Given the description of an element on the screen output the (x, y) to click on. 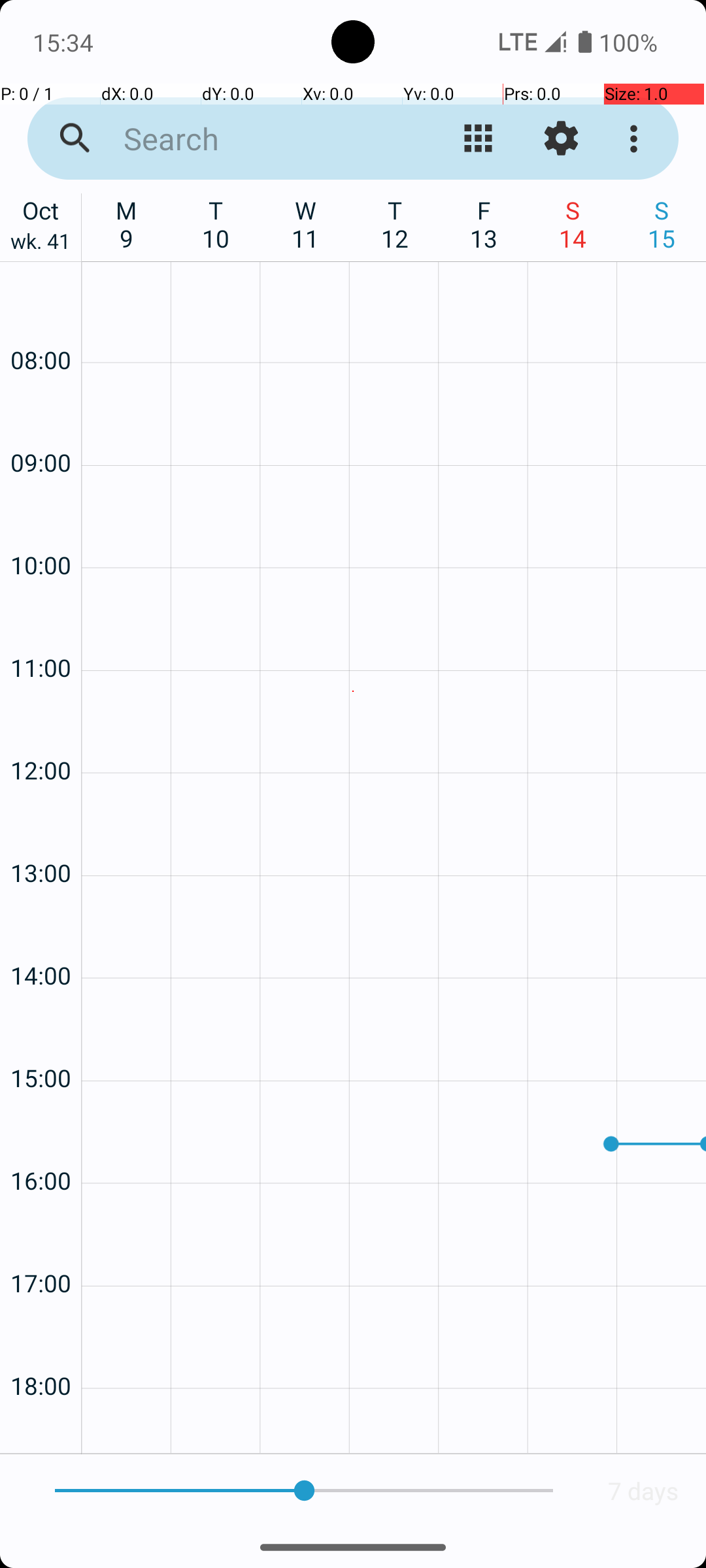
wk. 41 Element type: android.widget.TextView (40, 243)
M
9 Element type: android.widget.TextView (126, 223)
T
10 Element type: android.widget.TextView (215, 223)
W
11 Element type: android.widget.TextView (305, 223)
T
12 Element type: android.widget.TextView (394, 223)
F
13 Element type: android.widget.TextView (483, 223)
S
14 Element type: android.widget.TextView (572, 223)
